Given the description of an element on the screen output the (x, y) to click on. 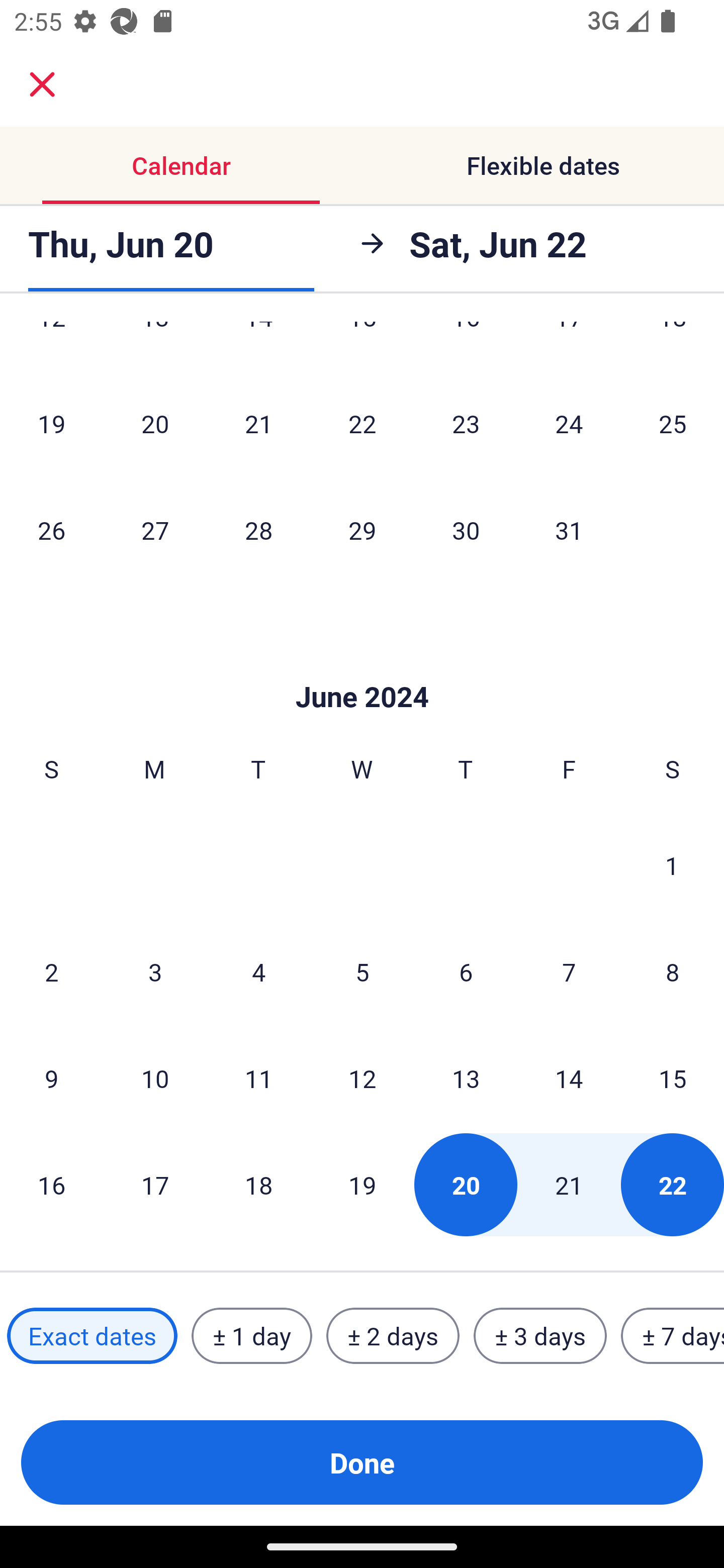
close. (42, 84)
Flexible dates (542, 164)
19 Sunday, May 19, 2024 (51, 423)
20 Monday, May 20, 2024 (155, 423)
21 Tuesday, May 21, 2024 (258, 423)
22 Wednesday, May 22, 2024 (362, 423)
23 Thursday, May 23, 2024 (465, 423)
24 Friday, May 24, 2024 (569, 423)
25 Saturday, May 25, 2024 (672, 423)
26 Sunday, May 26, 2024 (51, 529)
27 Monday, May 27, 2024 (155, 529)
28 Tuesday, May 28, 2024 (258, 529)
29 Wednesday, May 29, 2024 (362, 529)
30 Thursday, May 30, 2024 (465, 529)
31 Friday, May 31, 2024 (569, 529)
Skip to Done (362, 666)
1 Saturday, June 1, 2024 (672, 865)
2 Sunday, June 2, 2024 (51, 971)
3 Monday, June 3, 2024 (155, 971)
4 Tuesday, June 4, 2024 (258, 971)
5 Wednesday, June 5, 2024 (362, 971)
6 Thursday, June 6, 2024 (465, 971)
7 Friday, June 7, 2024 (569, 971)
8 Saturday, June 8, 2024 (672, 971)
9 Sunday, June 9, 2024 (51, 1078)
10 Monday, June 10, 2024 (155, 1078)
11 Tuesday, June 11, 2024 (258, 1078)
12 Wednesday, June 12, 2024 (362, 1078)
13 Thursday, June 13, 2024 (465, 1078)
14 Friday, June 14, 2024 (569, 1078)
15 Saturday, June 15, 2024 (672, 1078)
16 Sunday, June 16, 2024 (51, 1184)
17 Monday, June 17, 2024 (155, 1184)
18 Tuesday, June 18, 2024 (258, 1184)
19 Wednesday, June 19, 2024 (362, 1184)
Exact dates (92, 1335)
± 1 day (251, 1335)
± 2 days (392, 1335)
± 3 days (539, 1335)
± 7 days (672, 1335)
Done (361, 1462)
